Given the description of an element on the screen output the (x, y) to click on. 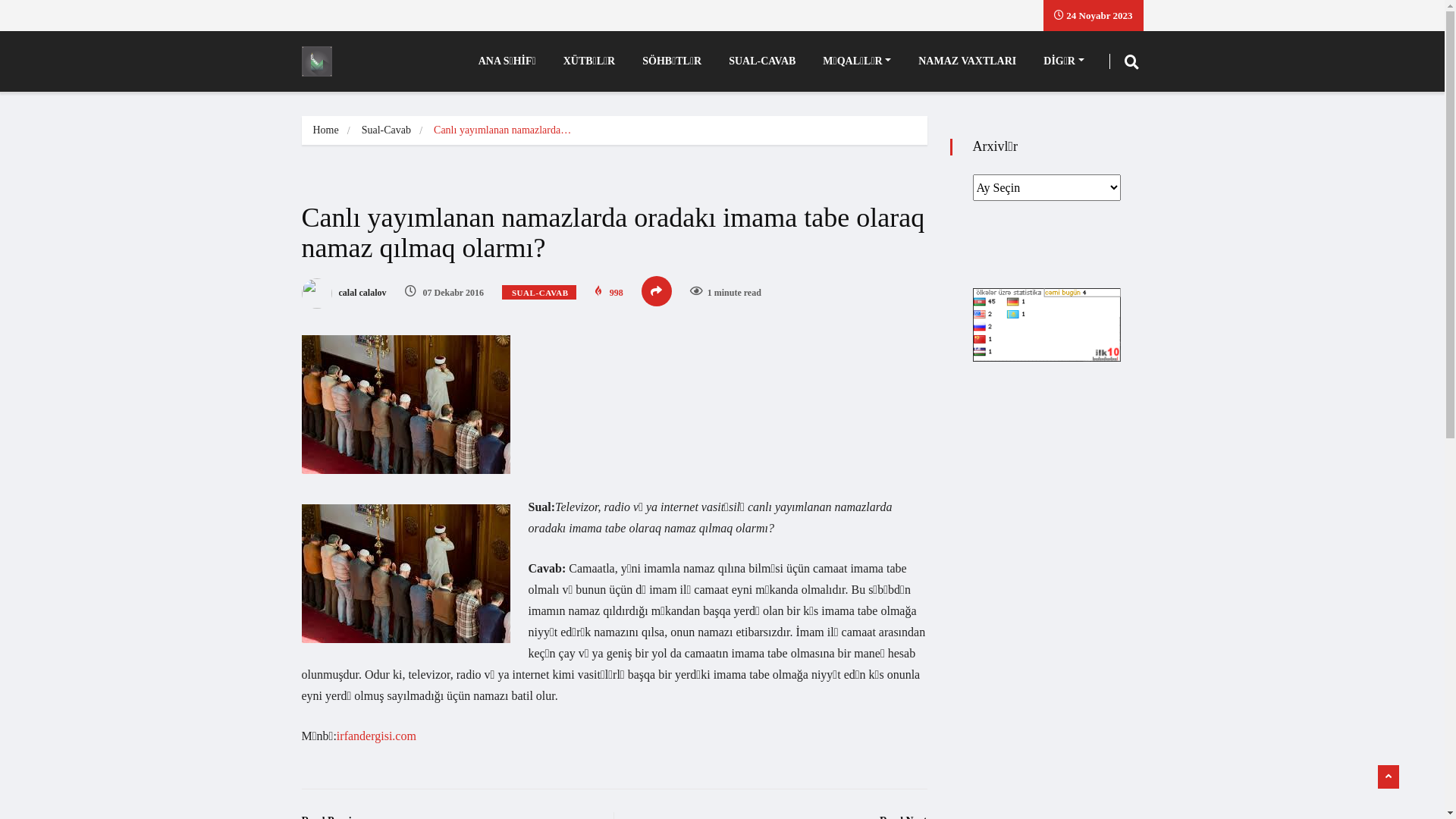
calal calalov Element type: text (343, 292)
SUAL-CAVAB Element type: text (539, 292)
SUAL-CAVAB Element type: text (762, 61)
Sual-Cavab Element type: text (386, 129)
irfandergisi.com Element type: text (376, 735)
Back to Top Element type: hover (1388, 776)
Home Element type: text (325, 129)
NAMAZ VAXTLARI Element type: text (966, 61)
